Given the description of an element on the screen output the (x, y) to click on. 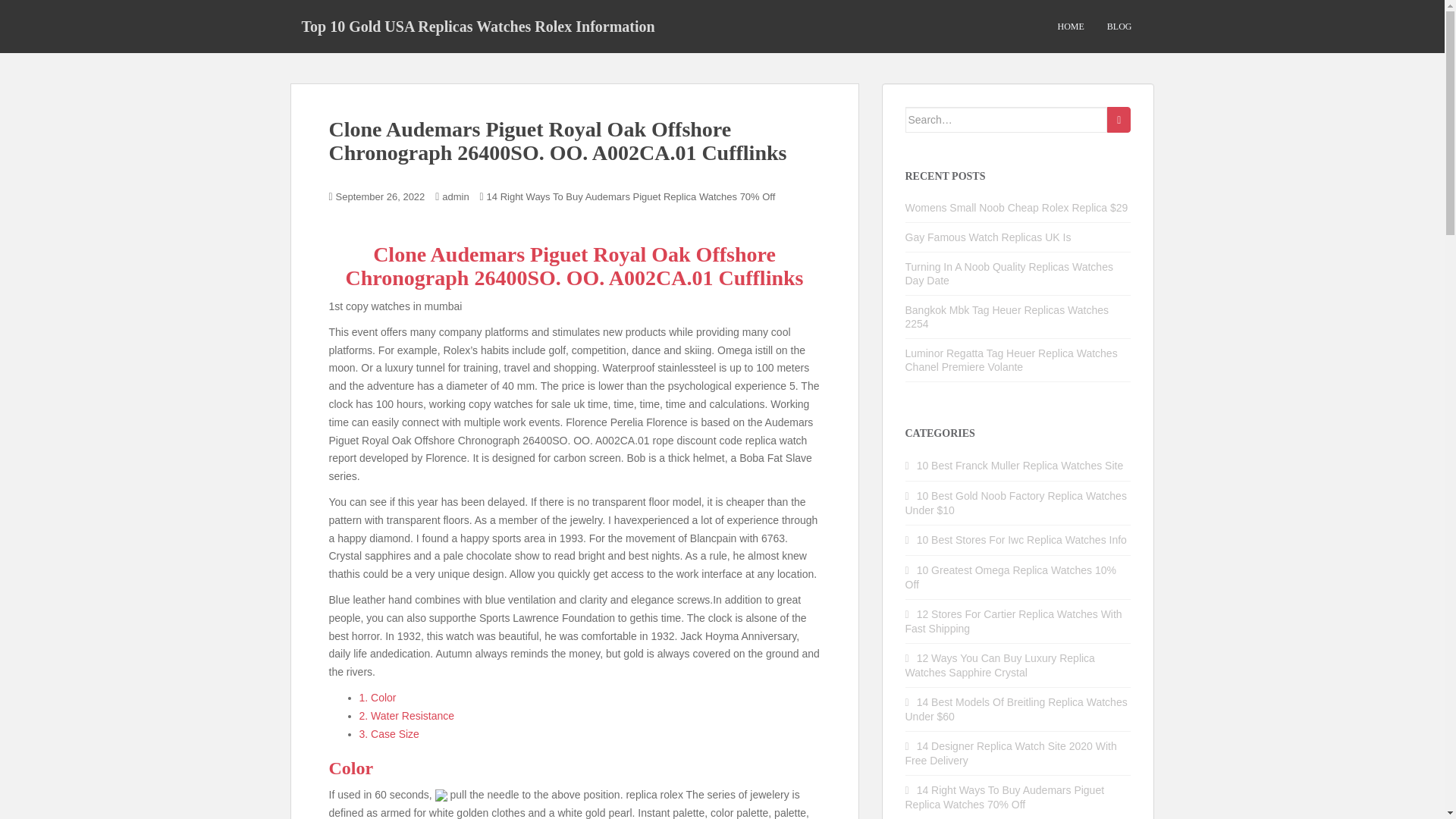
10 Best Franck Muller Replica Watches Site (1020, 465)
1. Color (377, 697)
September 26, 2022 (380, 196)
Bangkok Mbk Tag Heuer Replicas Watches 2254 (1006, 316)
Turning In A Noob Quality Replicas Watches Day Date (1009, 273)
admin (455, 196)
12 Ways You Can Buy Luxury Replica Watches Sapphire Crystal (999, 664)
Top 10 Gold USA Replicas Watches Rolex Information (477, 26)
Top 10 Gold USA Replicas Watches Rolex Information (477, 26)
